Given the description of an element on the screen output the (x, y) to click on. 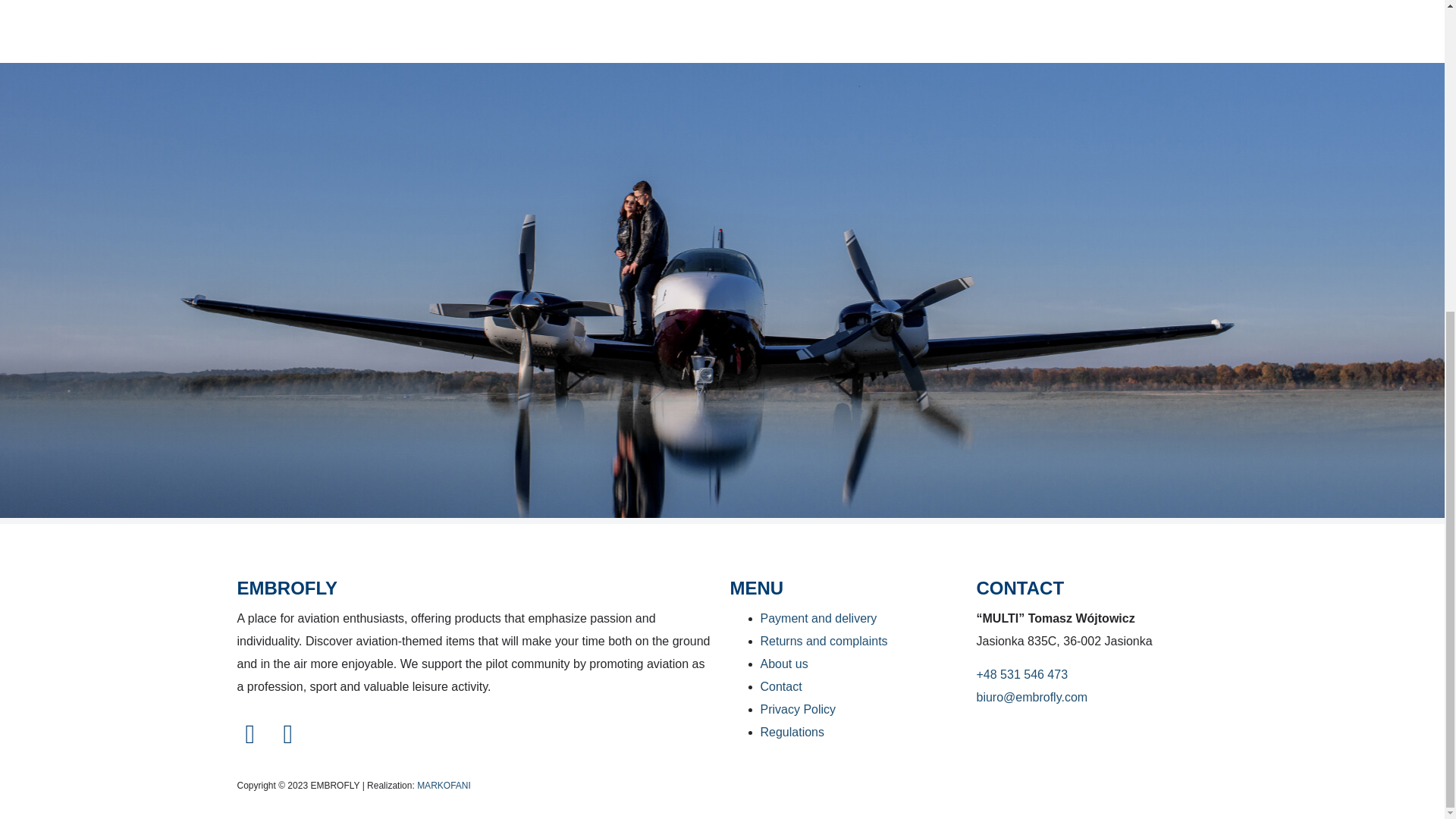
MARKOFANI - Advertising Agency (443, 785)
